Given the description of an element on the screen output the (x, y) to click on. 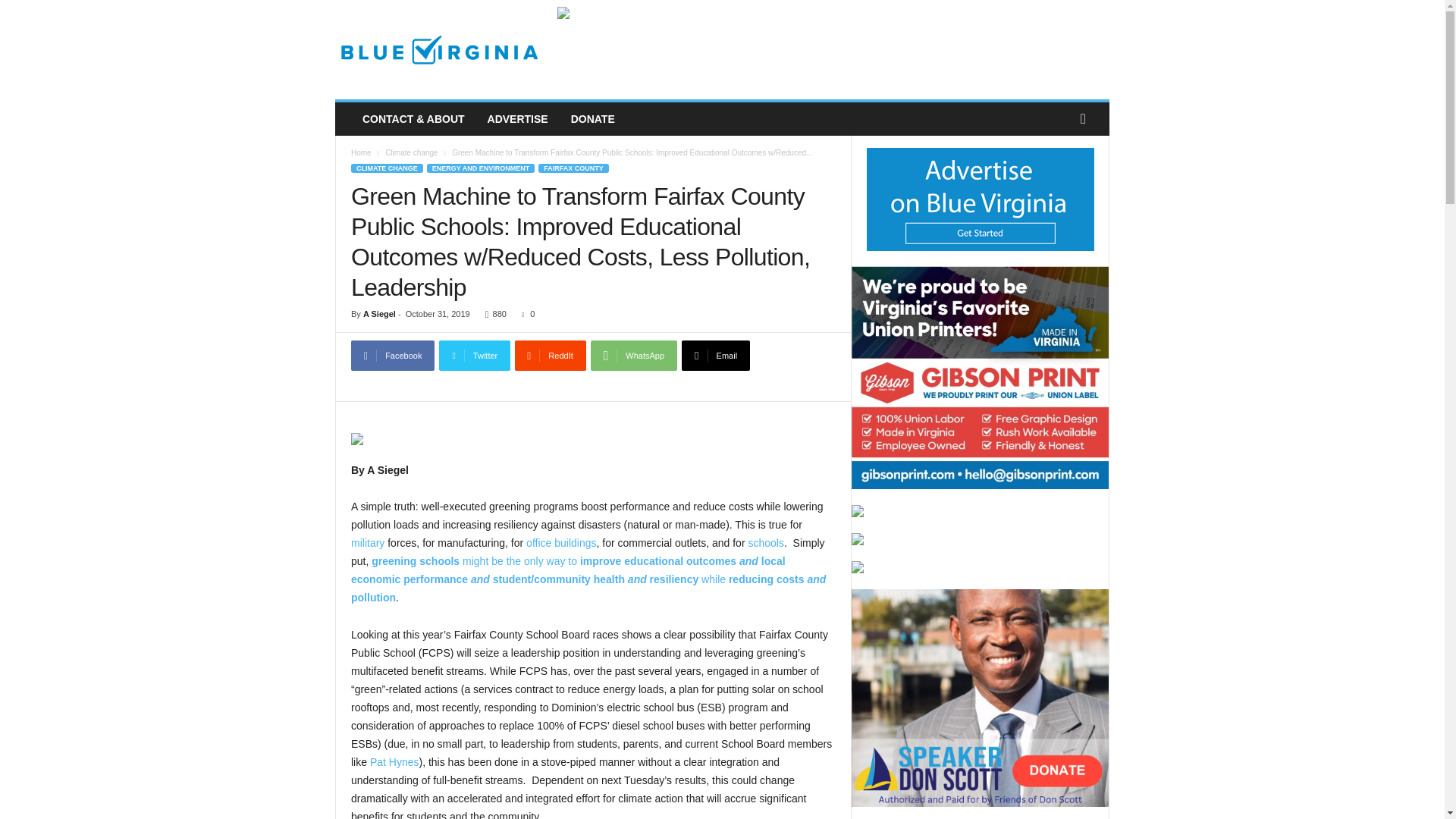
ENERGY AND ENVIRONMENT (480, 167)
ReddIt (550, 355)
CLIMATE CHANGE (386, 167)
Email (715, 355)
ADVERTISE (517, 118)
office buildings (560, 542)
DONATE (592, 118)
military (367, 542)
View all posts in Climate change (411, 152)
Email (715, 355)
Twitter (475, 355)
Facebook (391, 355)
WhatsApp (634, 355)
Climate change (411, 152)
WhatsApp (634, 355)
